Given the description of an element on the screen output the (x, y) to click on. 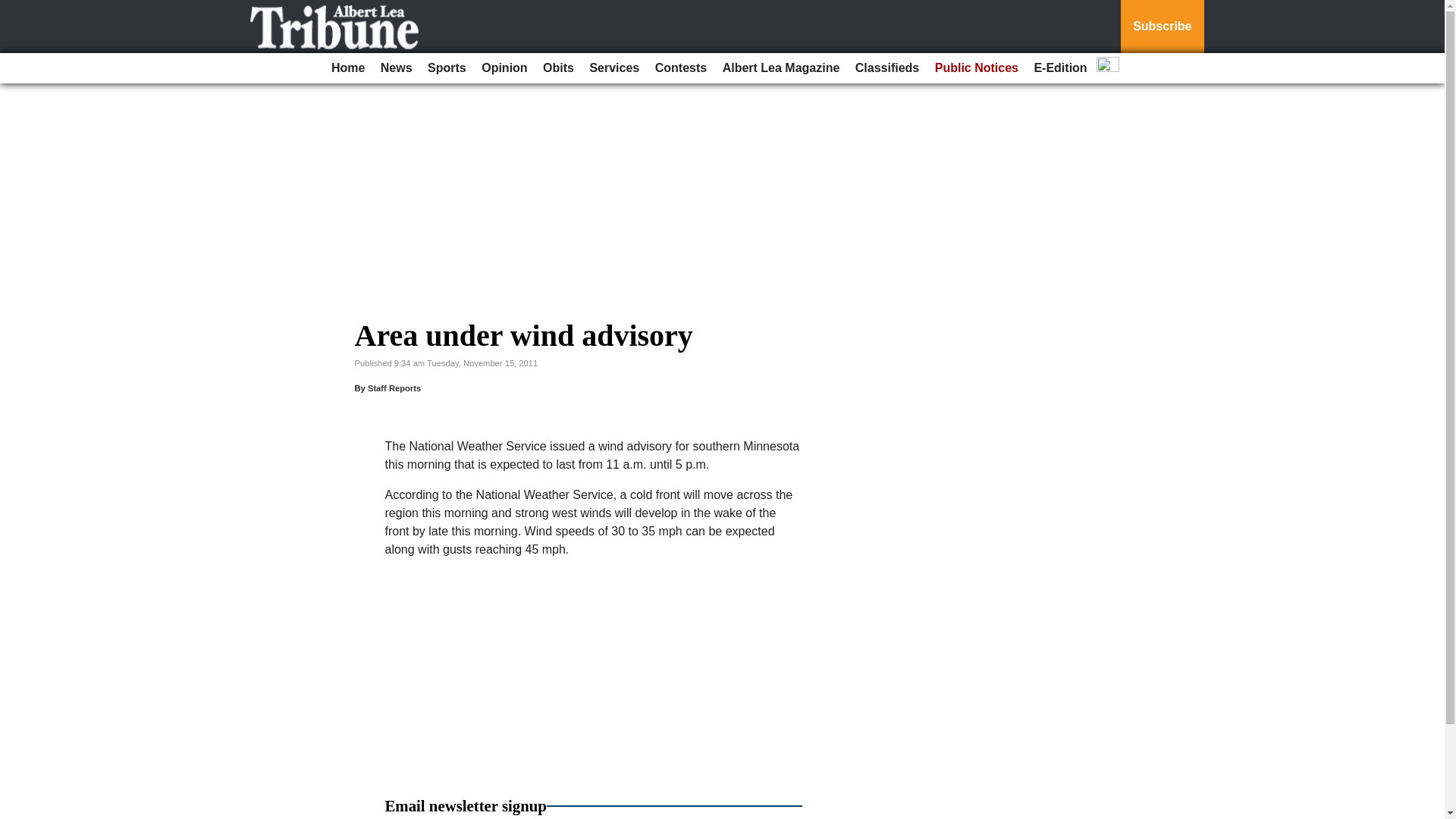
News (396, 68)
Services (614, 68)
Home (347, 68)
Obits (558, 68)
Opinion (504, 68)
Sports (446, 68)
Subscribe (1162, 26)
